Given the description of an element on the screen output the (x, y) to click on. 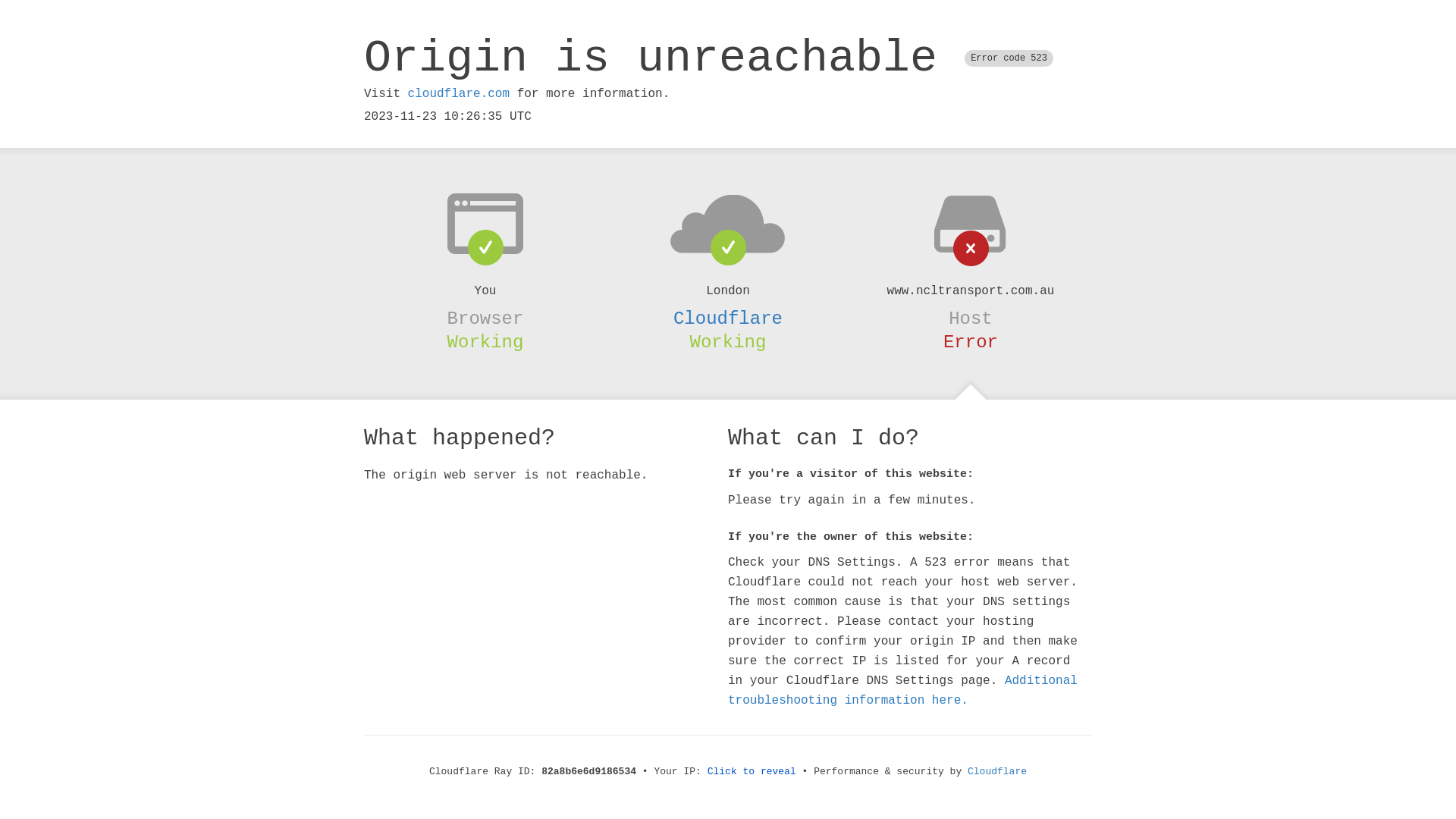
Cloudflare Element type: text (996, 771)
Click to reveal Element type: text (751, 771)
Cloudflare Element type: text (727, 318)
Additional troubleshooting information here. Element type: text (902, 690)
cloudflare.com Element type: text (458, 93)
